Given the description of an element on the screen output the (x, y) to click on. 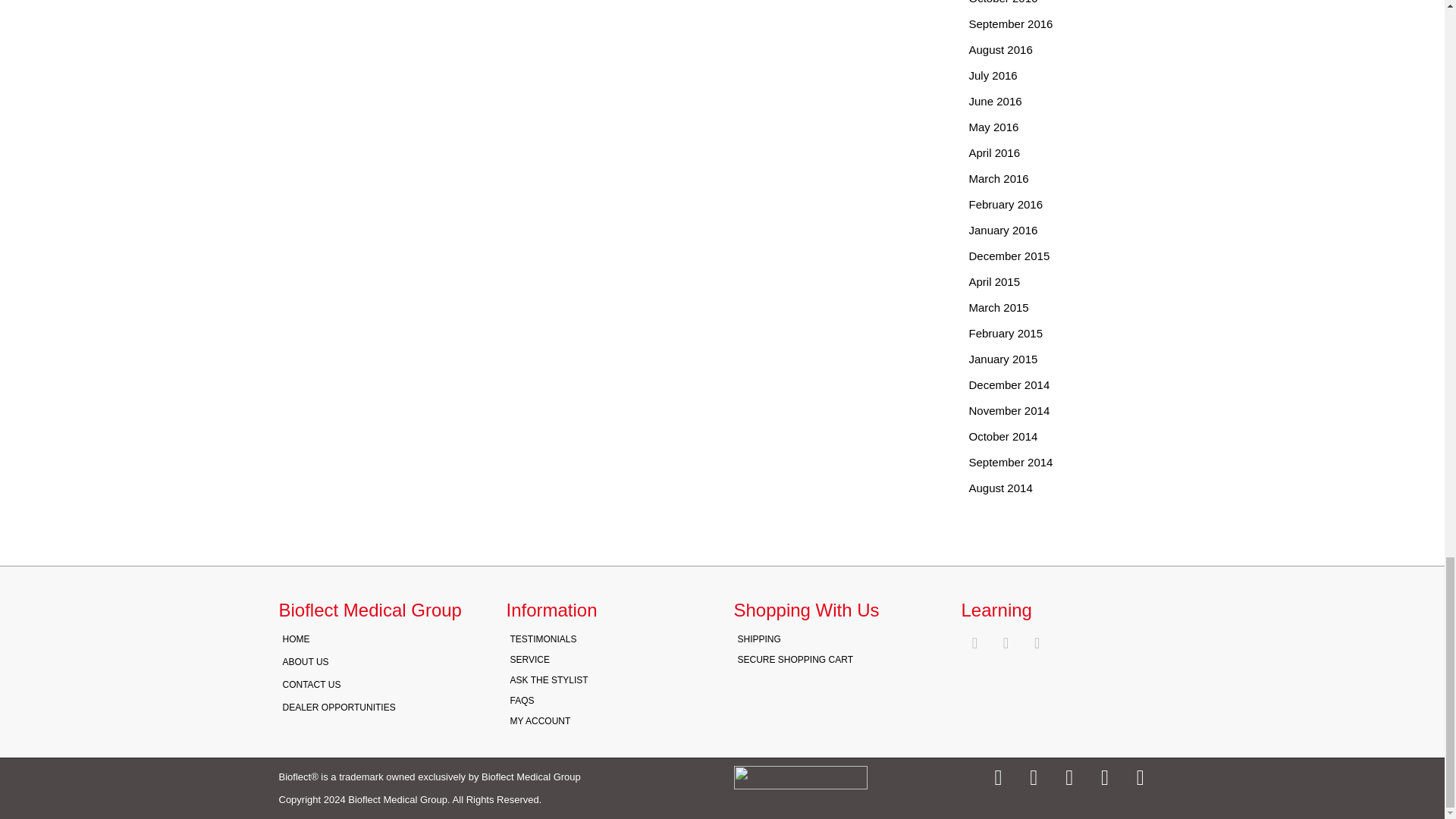
Subscribe to our Blog (974, 642)
Follow Us on Twitter (1037, 642)
Like Us on Facebook (1005, 642)
